Given the description of an element on the screen output the (x, y) to click on. 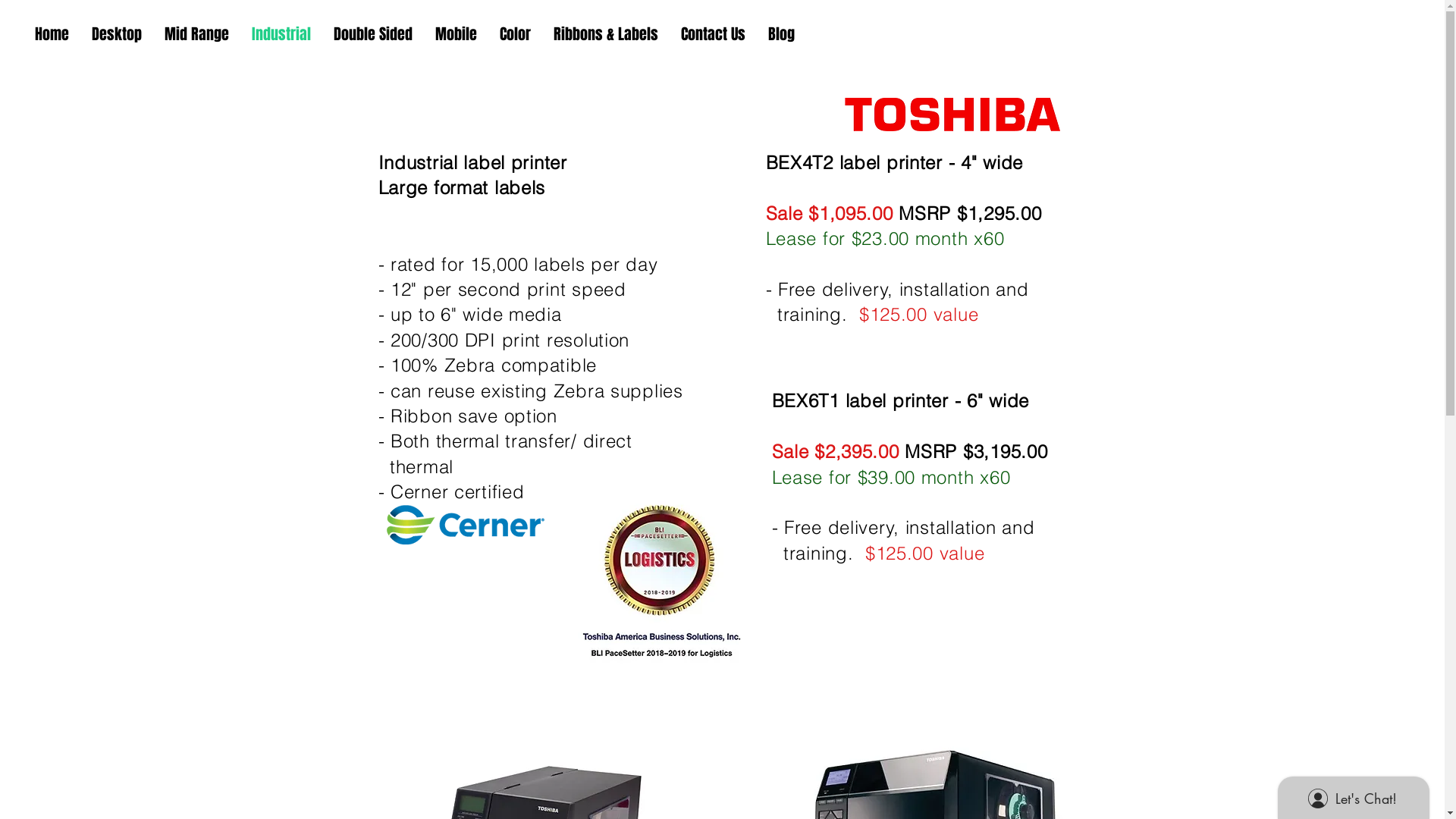
Double Sided Element type: text (372, 34)
Industrial Element type: text (281, 34)
Desktop Element type: text (116, 34)
Blog Element type: text (781, 34)
TWIPLA (Visitor Analytics) Element type: hover (1442, 4)
Mobile Element type: text (455, 34)
Home Element type: text (51, 34)
Color Element type: text (515, 34)
Mid Range Element type: text (196, 34)
Contact Us Element type: text (712, 34)
Ribbons & Labels Element type: text (605, 34)
